Given the description of an element on the screen output the (x, y) to click on. 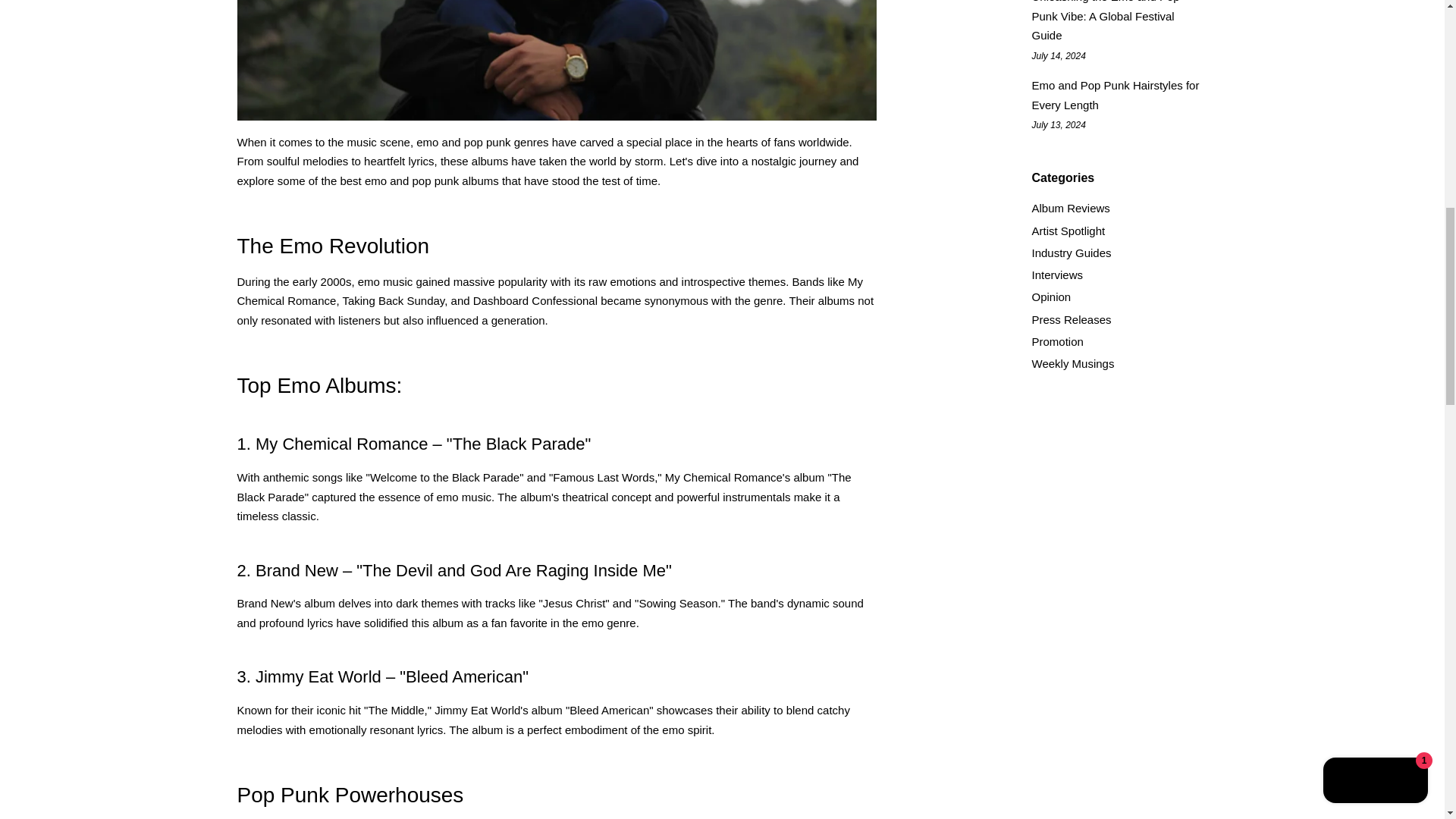
Show articles tagged Interviews (1056, 274)
Emo and Pop Punk Hairstyles for Every Length (1114, 94)
Album Reviews (1069, 207)
Show articles tagged Promotion (1056, 341)
Show articles tagged Press Releases (1070, 318)
Show articles tagged Opinion (1050, 296)
Show articles tagged Album Reviews (1069, 207)
Show articles tagged Artist Spotlight (1067, 230)
Show articles tagged Industry Guides (1070, 252)
Show articles tagged Weekly Musings (1071, 363)
